Given the description of an element on the screen output the (x, y) to click on. 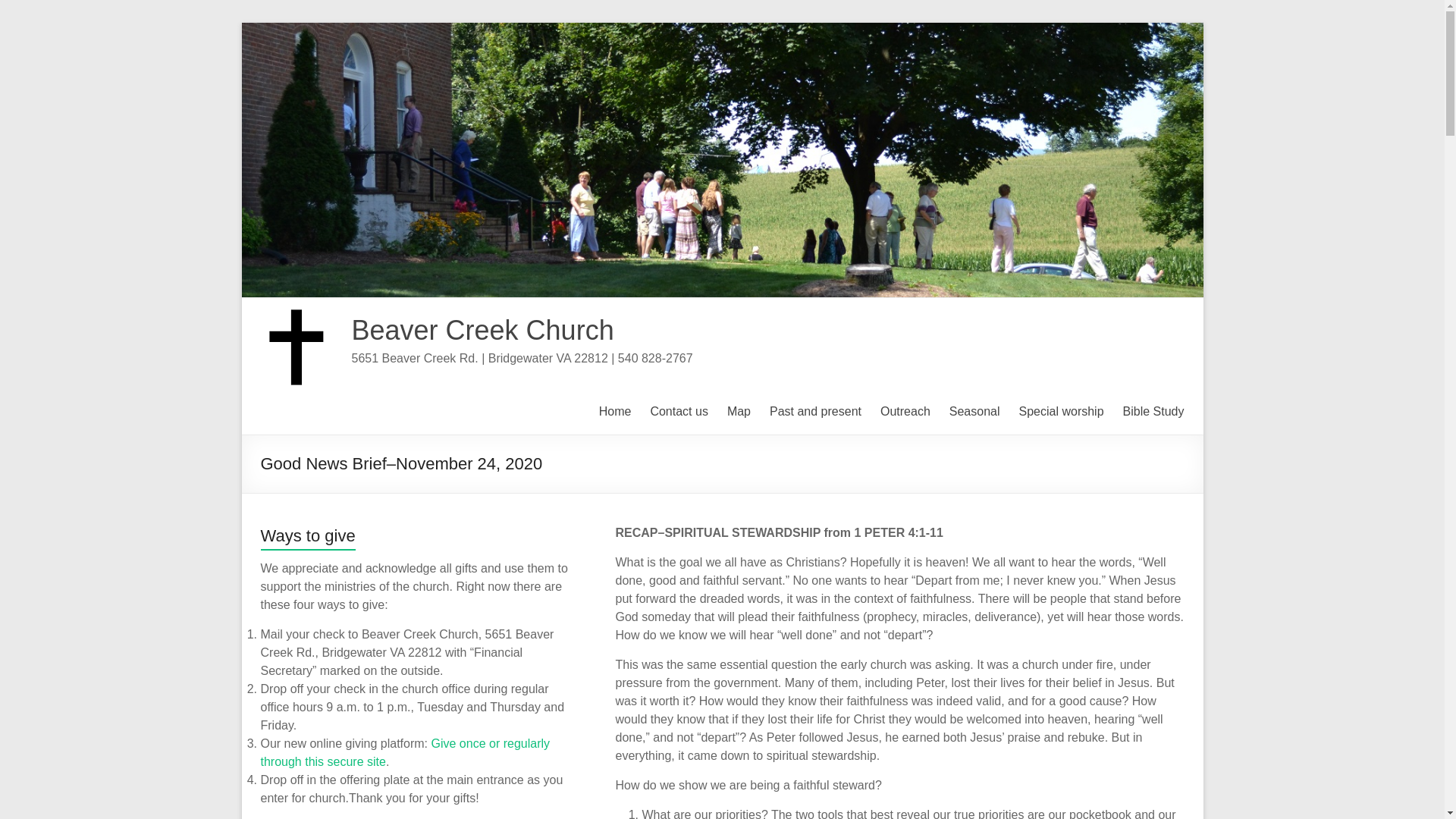
Beaver Creek Church (483, 329)
Map (738, 411)
Outreach (905, 411)
Contact us (678, 411)
Bible Study (1153, 411)
Home (614, 411)
Special worship (1061, 411)
Beaver Creek Church (483, 329)
Give once or regularly through this secure site (405, 752)
